Given the description of an element on the screen output the (x, y) to click on. 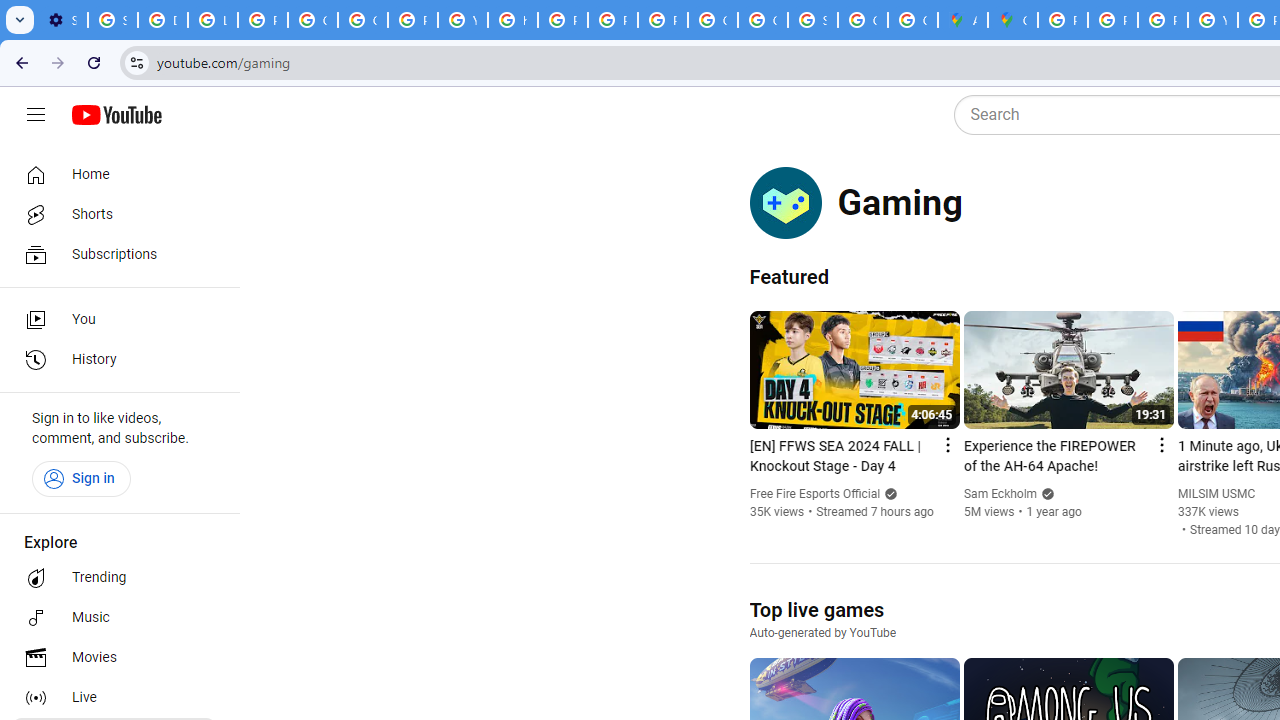
YouTube (462, 20)
Google Maps (1013, 20)
